Given the description of an element on the screen output the (x, y) to click on. 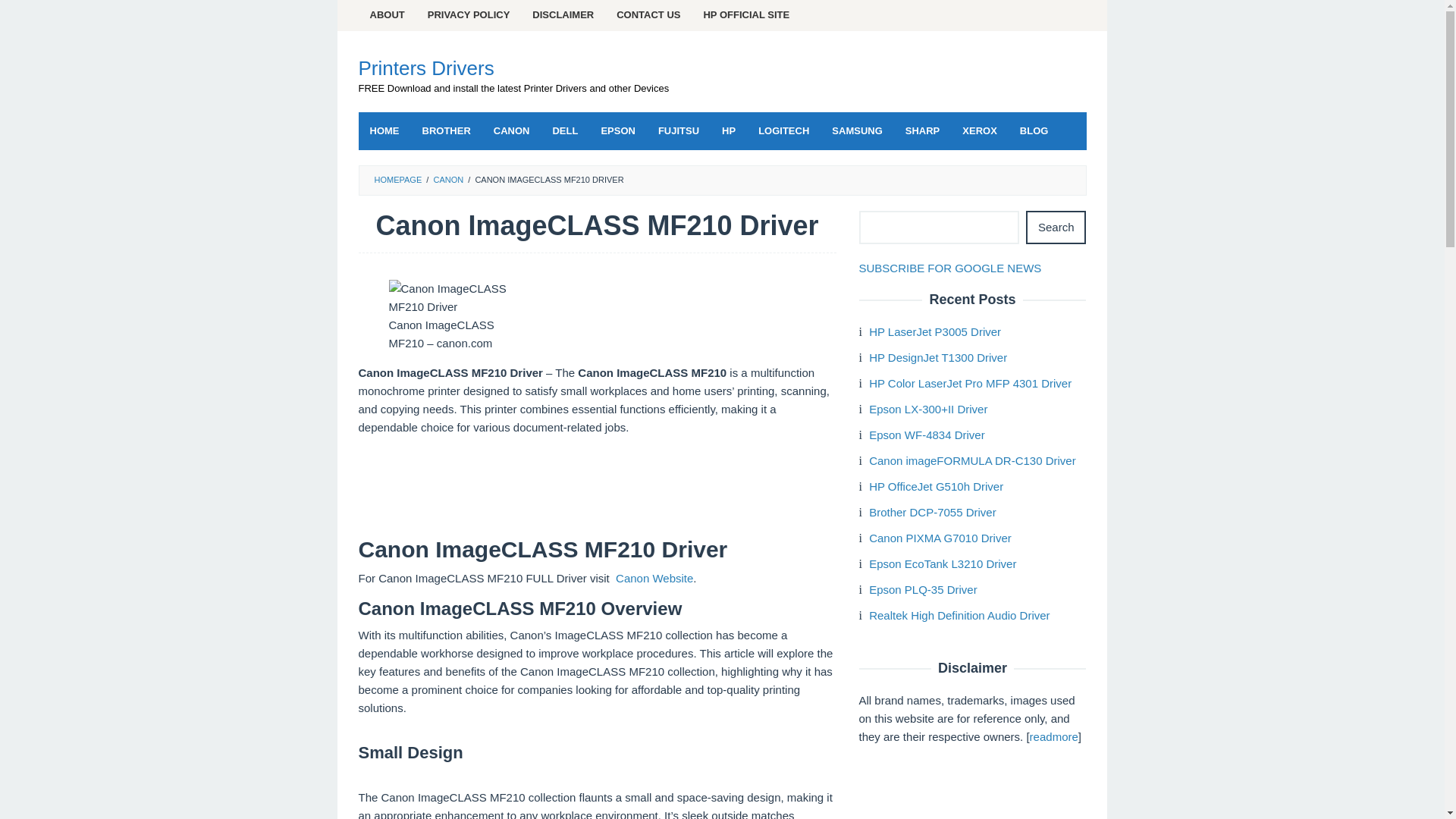
Canon Website (654, 577)
CONTACT US (648, 15)
CANON (511, 130)
XEROX (979, 130)
readmore (1053, 736)
SAMSUNG (857, 130)
ABOUT (386, 15)
HP (728, 130)
HP OFFICIAL SITE (745, 15)
HOME (384, 130)
